Given the description of an element on the screen output the (x, y) to click on. 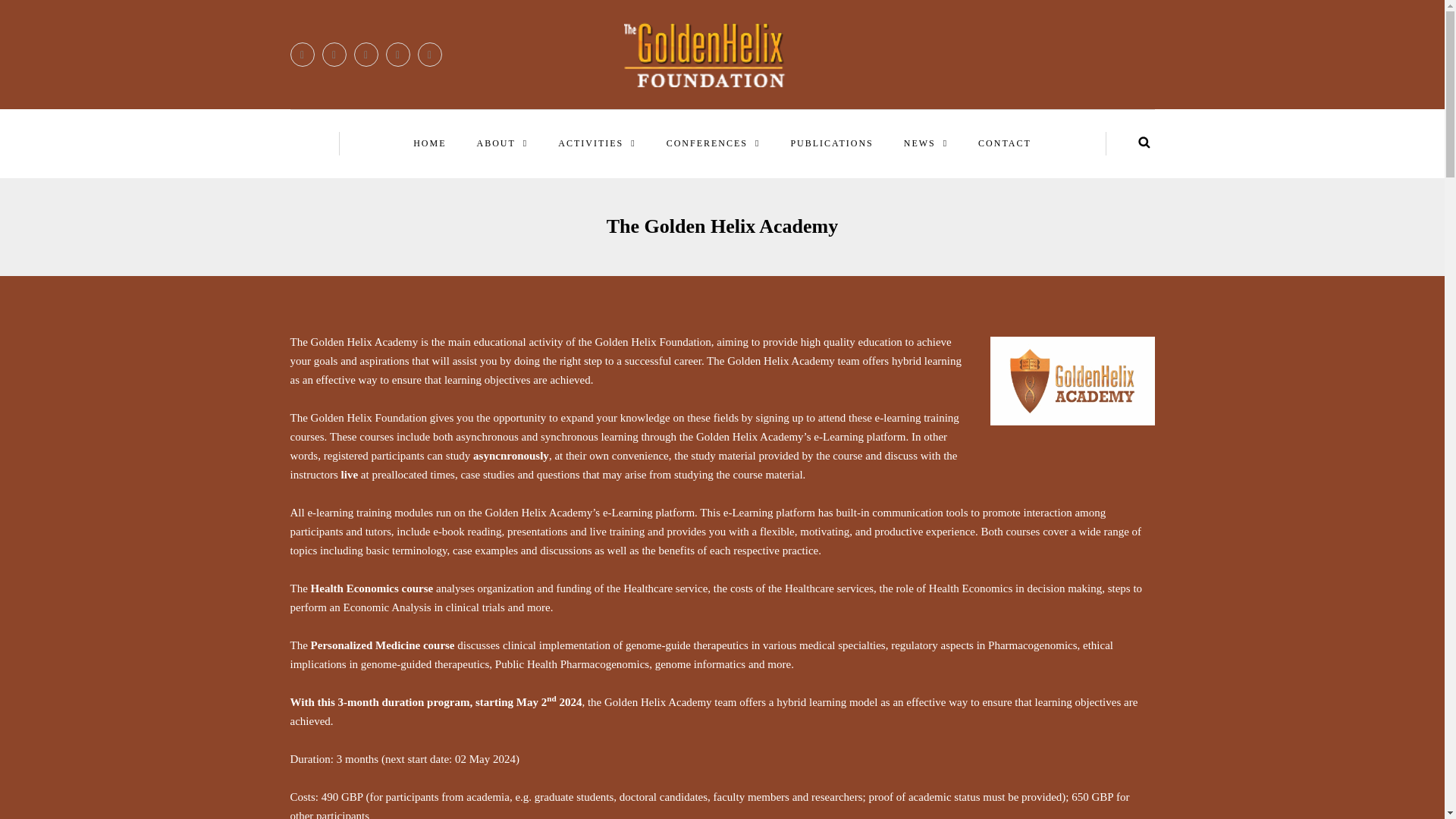
ABOUT (502, 143)
ACTIVITIES (596, 143)
HOME (429, 143)
CONFERENCES (713, 143)
